Given the description of an element on the screen output the (x, y) to click on. 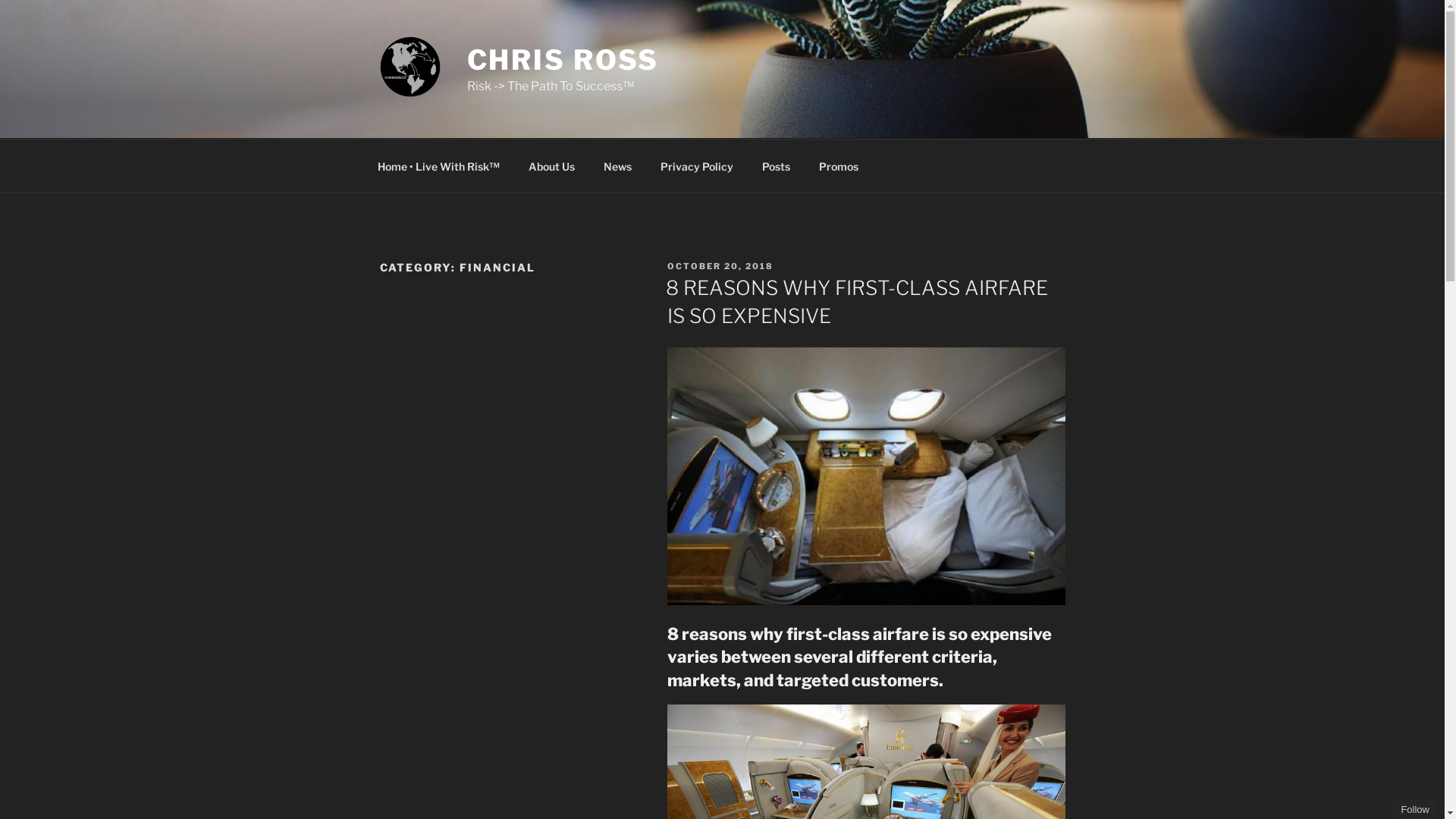
Promos Element type: text (838, 165)
OCTOBER 20, 2018 Element type: text (720, 265)
Skip to content Element type: text (0, 0)
CHRIS ROSS Element type: text (563, 59)
About Us Element type: text (551, 165)
Posts Element type: text (776, 165)
News Element type: text (616, 165)
8 REASONS WHY FIRST-CLASS AIRFARE IS SO EXPENSIVE Element type: text (856, 301)
Privacy Policy Element type: text (696, 165)
